Given the description of an element on the screen output the (x, y) to click on. 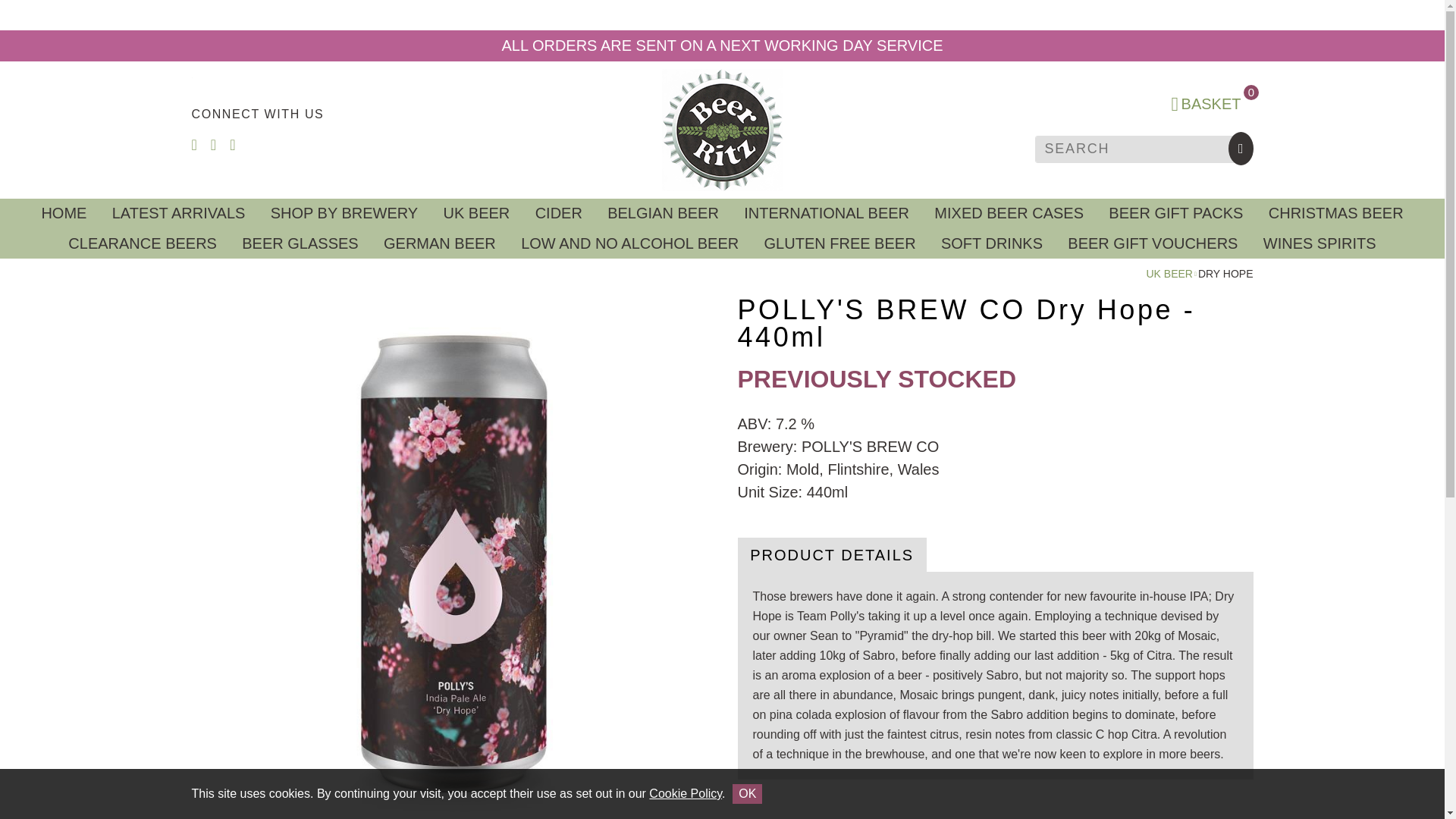
UK BEER (476, 214)
LATEST ARRIVALS (178, 214)
GLUTEN FREE BEER (839, 243)
CHRISTMAS BEER (1335, 214)
PRODUCT DETAILS (831, 554)
LOW AND NO ALCOHOL BEER (629, 243)
CLEARANCE BEERS (143, 243)
SOFT DRINKS (991, 243)
BELGIAN BEER (663, 214)
WINES SPIRITS (1319, 243)
MIXED BEER CASES (1008, 214)
INTERNATIONAL BEER (826, 214)
HOME (64, 214)
BEER GLASSES (300, 243)
BEER GIFT VOUCHERS (1152, 243)
